Given the description of an element on the screen output the (x, y) to click on. 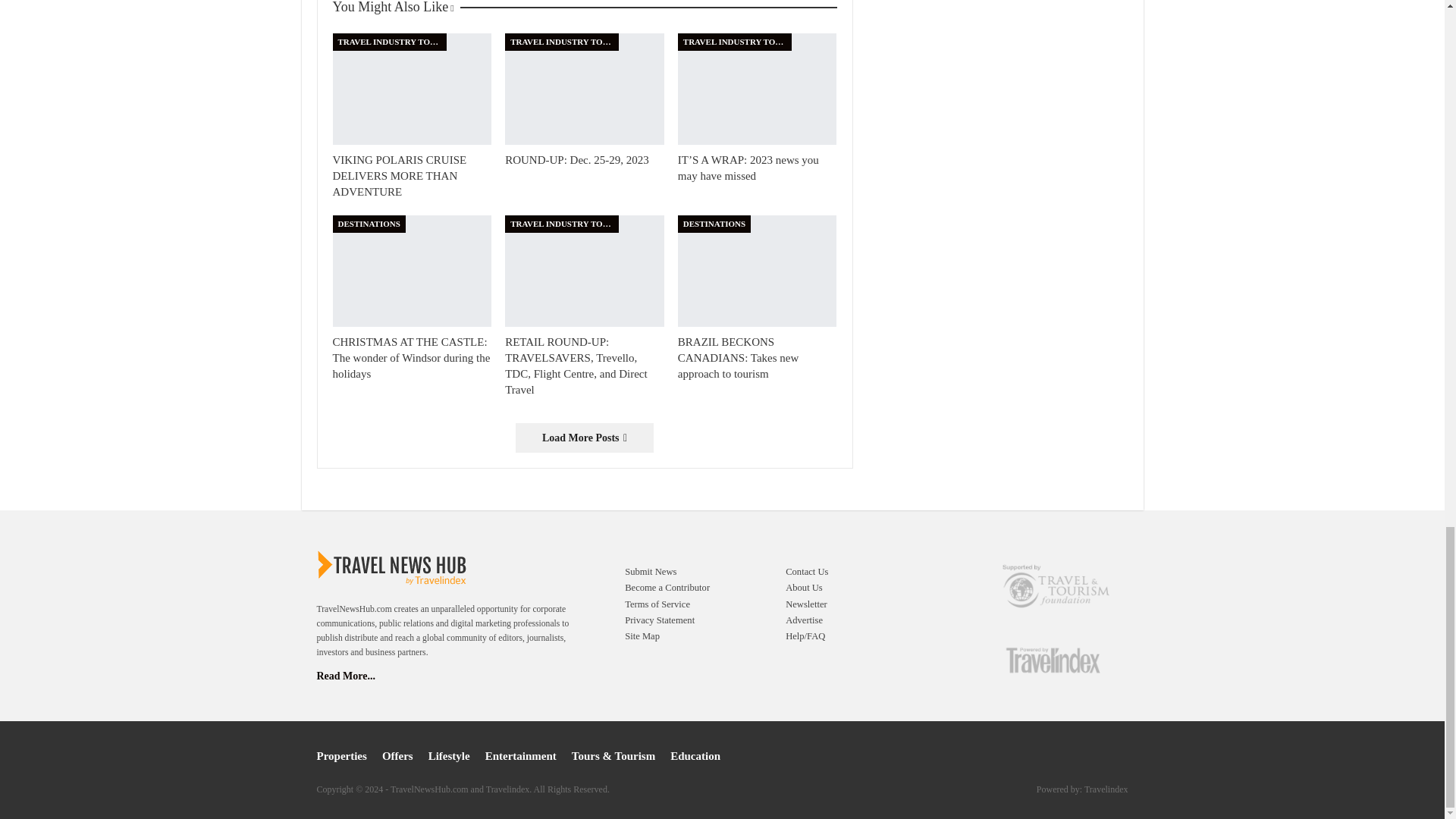
VIKING POLARIS CRUISE DELIVERS MORE THAN ADVENTURE (398, 175)
VIKING POLARIS CRUISE DELIVERS MORE THAN ADVENTURE (411, 88)
BRAZIL BECKONS CANADIANS: Takes new approach to tourism (757, 270)
ROUND-UP: Dec. 25-29, 2023 (577, 159)
BRAZIL BECKONS CANADIANS: Takes new approach to tourism (738, 357)
ROUND-UP: Dec. 25-29, 2023 (584, 88)
